Given the description of an element on the screen output the (x, y) to click on. 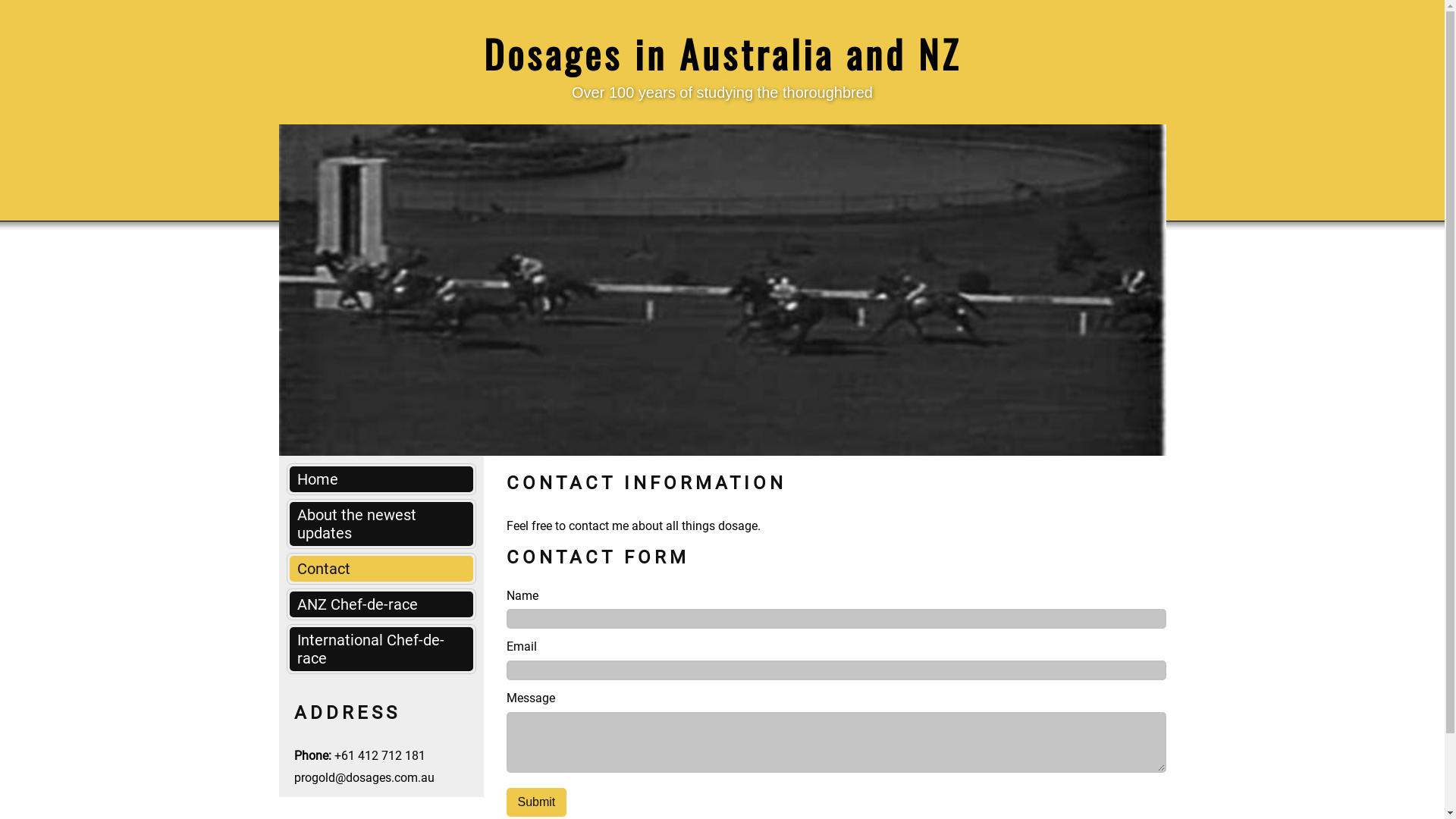
Contact Element type: text (381, 568)
Submit Element type: text (536, 801)
ANZ Chef-de-race Element type: text (381, 604)
International Chef-de-race Element type: text (381, 649)
Home Element type: text (381, 479)
About the newest updates Element type: text (381, 524)
Dosages in Australia and NZ Element type: text (722, 53)
